Given the description of an element on the screen output the (x, y) to click on. 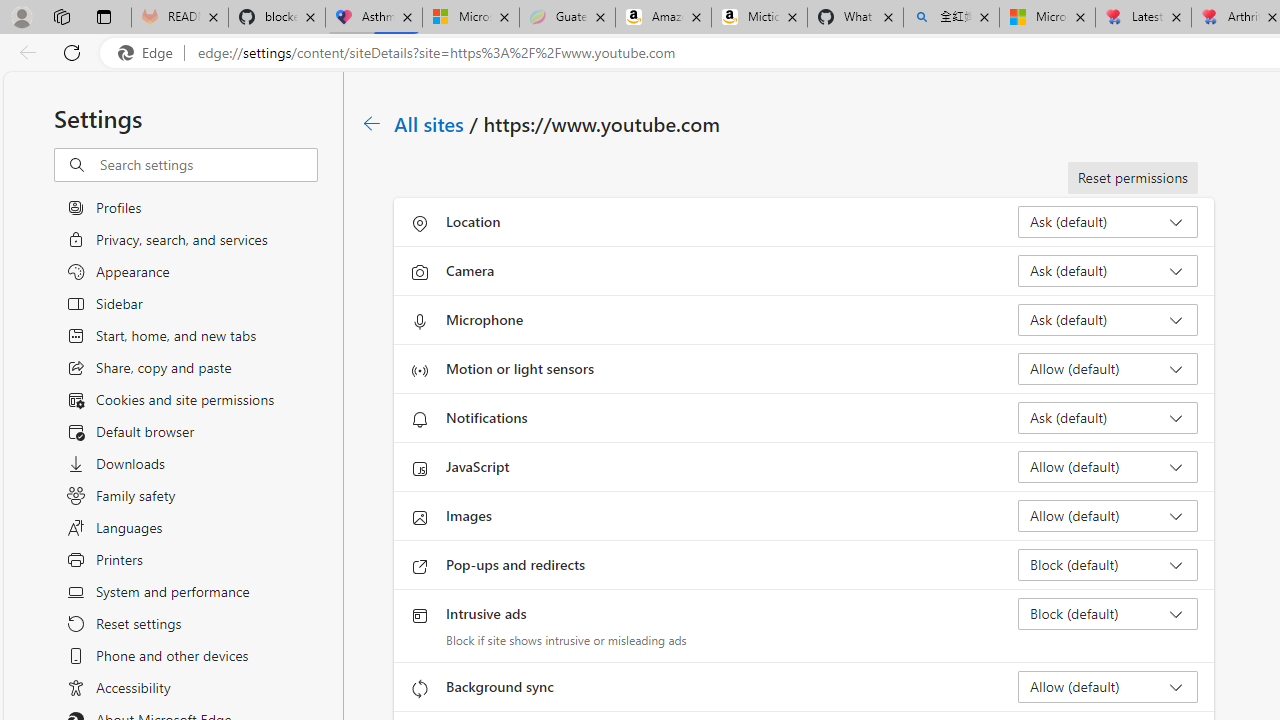
Go back to All sites page. (372, 123)
Microphone Ask (default) (1107, 319)
Notifications Ask (default) (1107, 417)
Search settings (207, 165)
Pop-ups and redirects Block (default) (1107, 564)
Location Ask (default) (1107, 221)
Intrusive ads Block (default) (1107, 614)
Edge (150, 53)
